Given the description of an element on the screen output the (x, y) to click on. 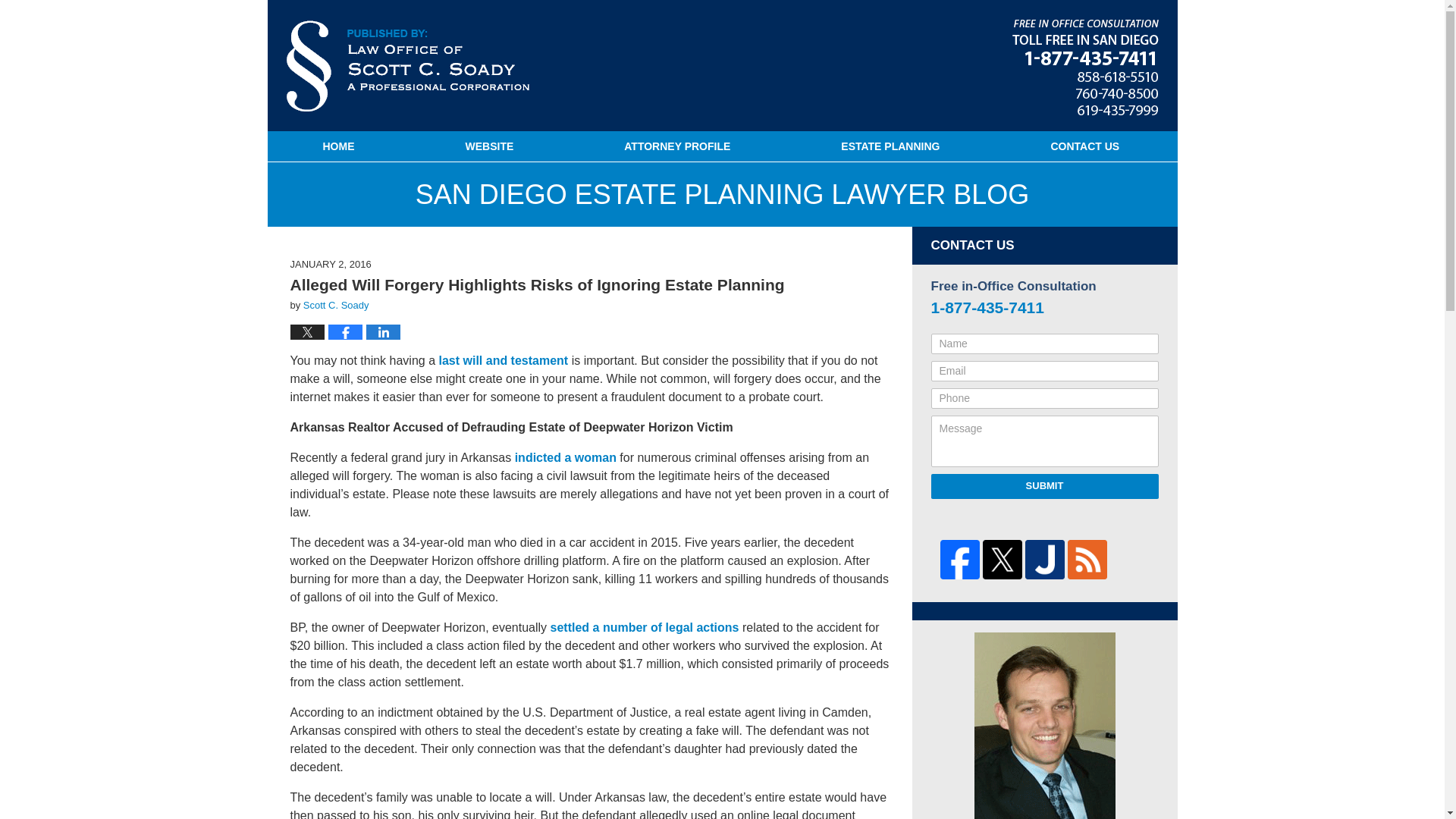
San Diego Estate Planning Lawyer Blog (407, 65)
last will and testament (502, 359)
ESTATE PLANNING (890, 146)
Twitter (1002, 559)
Justia (1044, 559)
CONTACT US (1084, 146)
indicted a woman (565, 457)
Feed (1086, 559)
Published By Law Offices of Scott C. Soady, APC (1084, 67)
SAN DIEGO ESTATE PLANNING LAWYER BLOG (721, 194)
SUBMIT (1044, 485)
settled a number of legal actions (644, 626)
ATTORNEY PROFILE (677, 146)
WEBSITE (489, 146)
Facebook (960, 559)
